Given the description of an element on the screen output the (x, y) to click on. 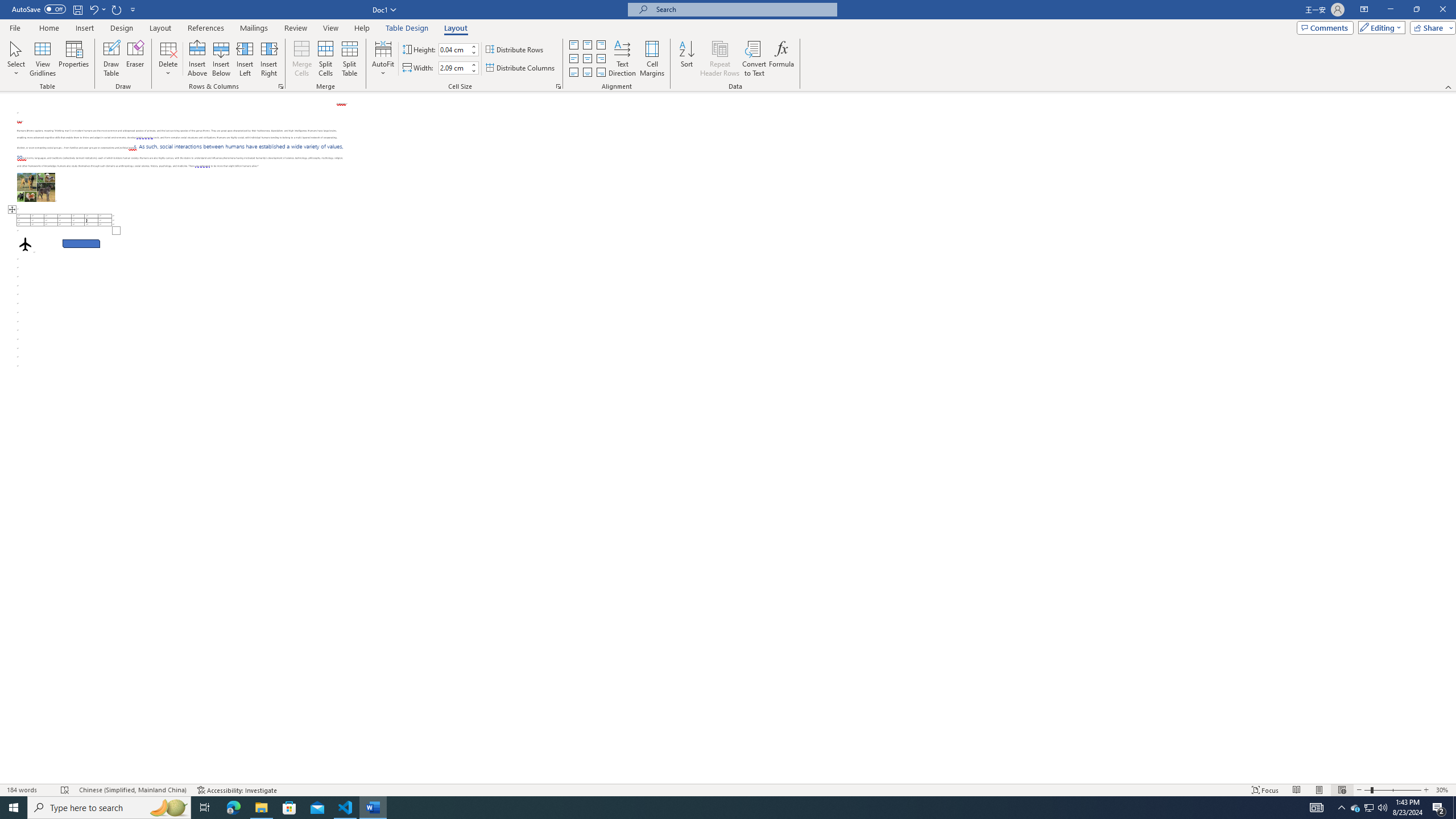
Repeat Row Height Spinner (117, 9)
Zoom Out (1367, 790)
Restore Down (1416, 9)
Mailings (253, 28)
Align Top Right (601, 44)
Table Design (407, 28)
Class: MsoCommandBar (728, 45)
Design (122, 28)
Insert Above (196, 58)
Minimize (1390, 9)
Rectangle: Diagonal Corners Snipped 2 (81, 243)
Table Row Height (453, 49)
Home (48, 28)
Quick Access Toolbar (74, 9)
References (205, 28)
